Given the description of an element on the screen output the (x, y) to click on. 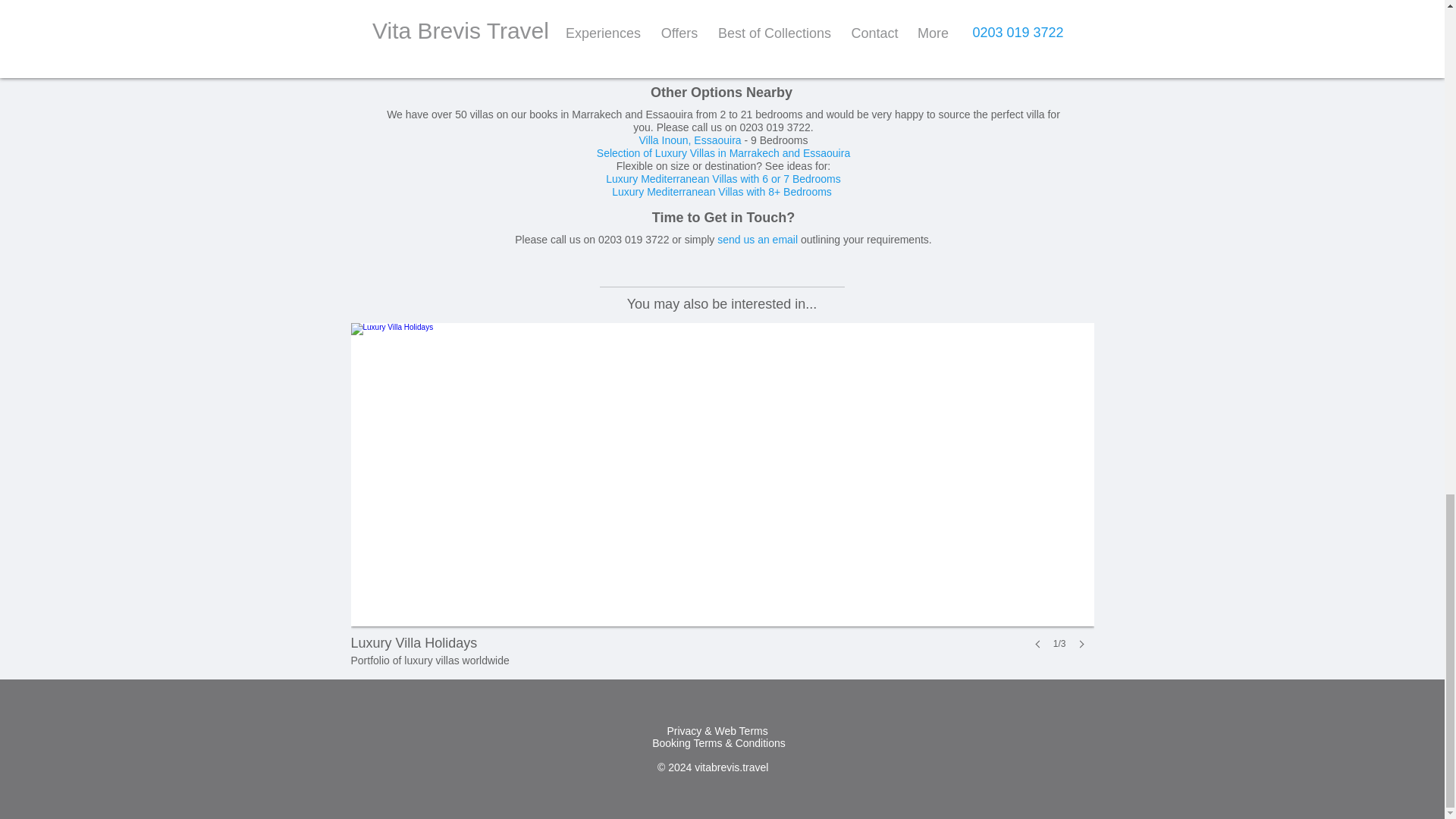
- 9 Bedrooms (776, 140)
send us an email (757, 239)
Selection of Luxury Villas in Marrakech and Essaouira (691, 140)
Luxury Mediterranean Villas with 6 or 7 Bedrooms (723, 153)
